Given the description of an element on the screen output the (x, y) to click on. 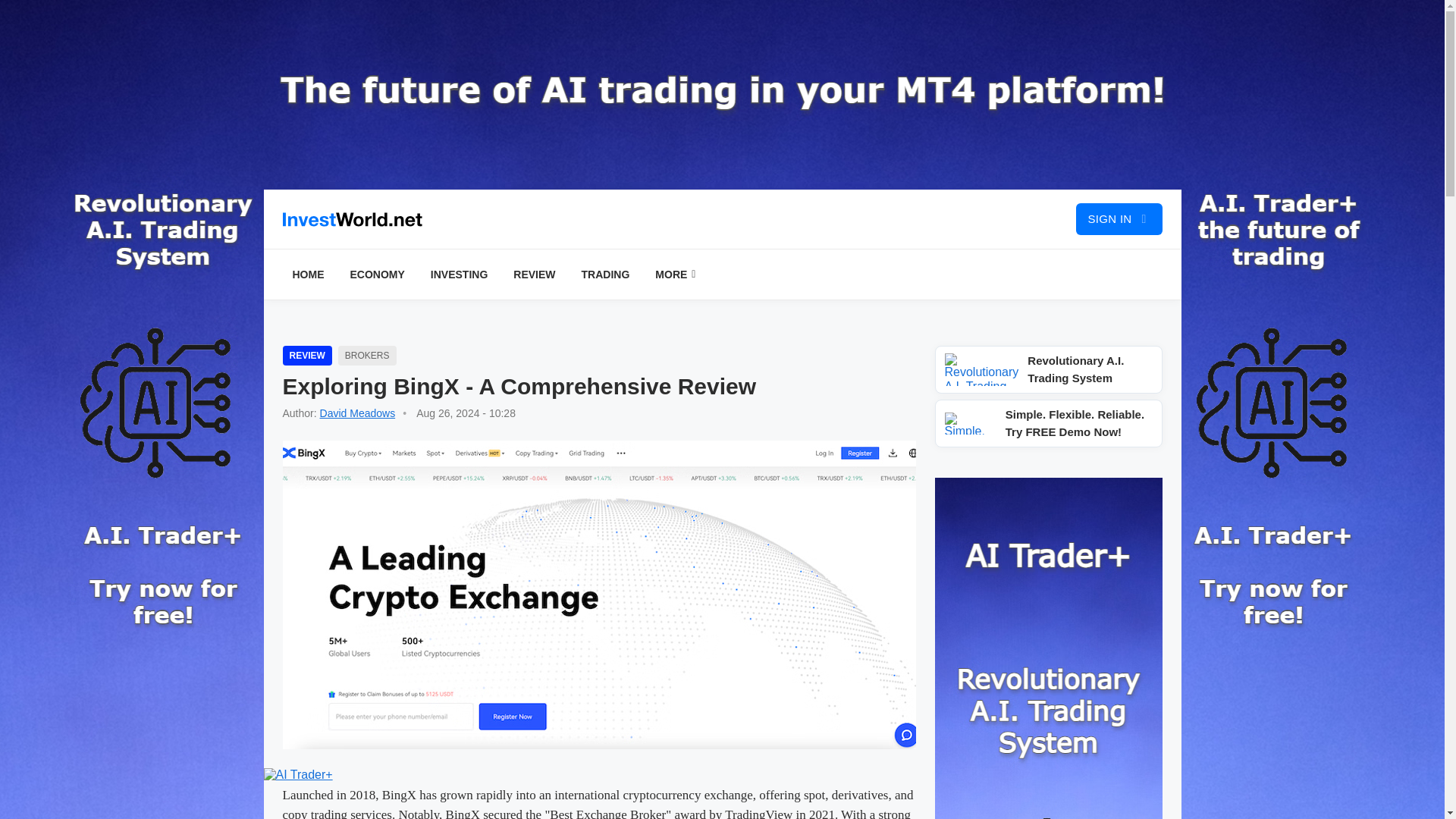
ECONOMY (376, 274)
David Meadows (358, 413)
REVIEW (306, 355)
HOME (307, 274)
SIGN IN (1118, 219)
BROKERS (366, 355)
MORE (674, 274)
INVESTING (458, 274)
REVIEW (533, 274)
Revolutionary A.I. Trading System (1047, 369)
